Given the description of an element on the screen output the (x, y) to click on. 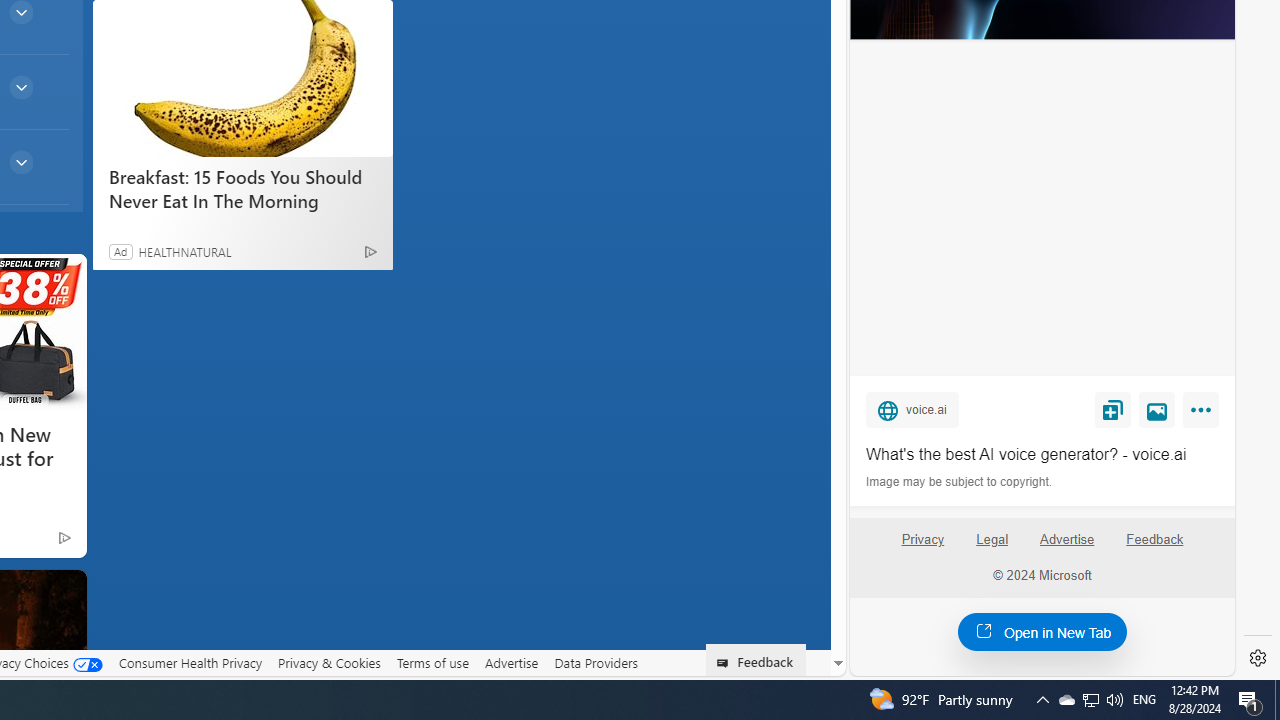
Privacy (922, 539)
Legal (991, 539)
See more (62, 593)
Open in New Tab (1042, 631)
